Given the description of an element on the screen output the (x, y) to click on. 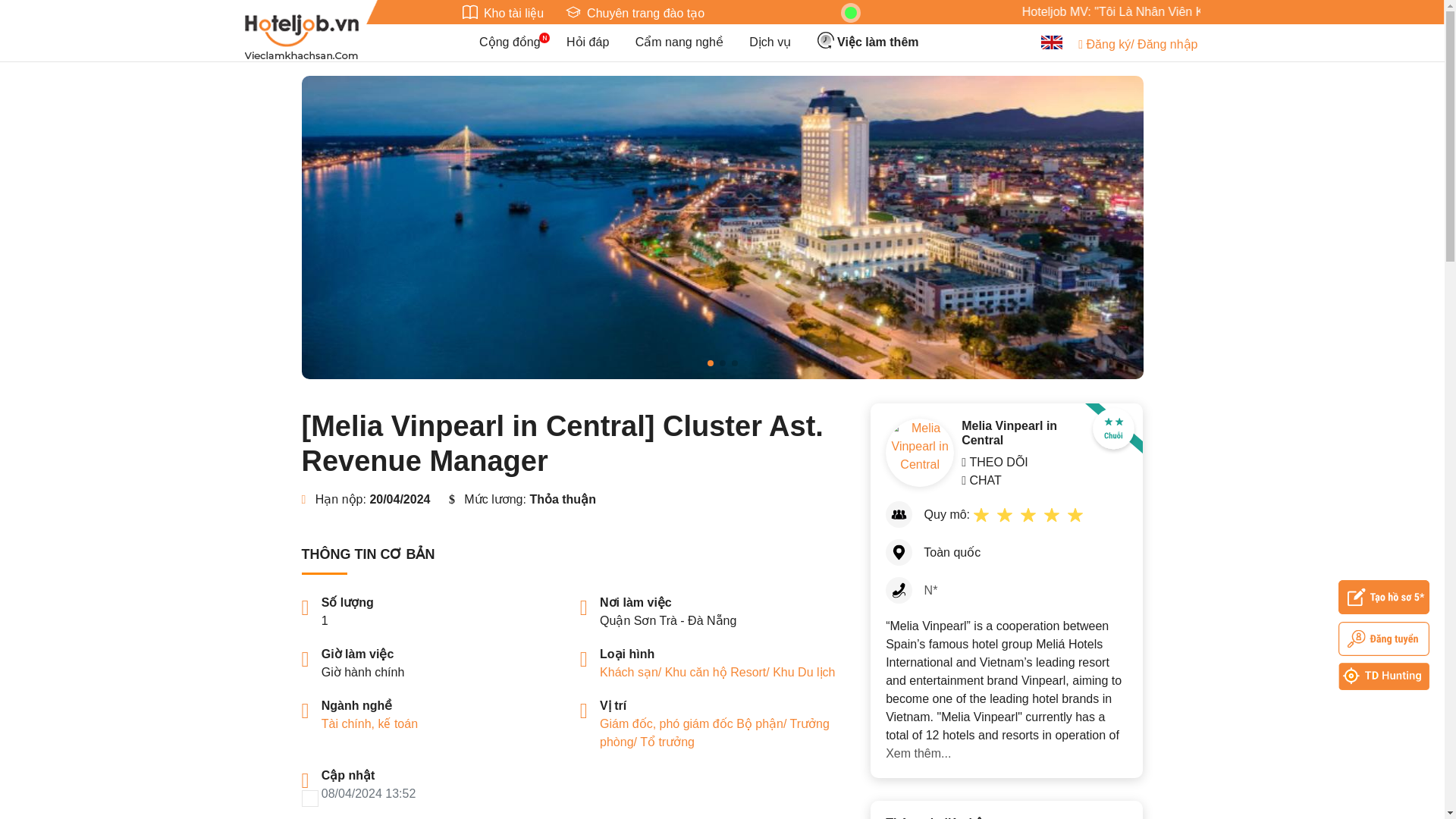
en (1051, 42)
Melia Vinpearl in Central (919, 452)
